Given the description of an element on the screen output the (x, y) to click on. 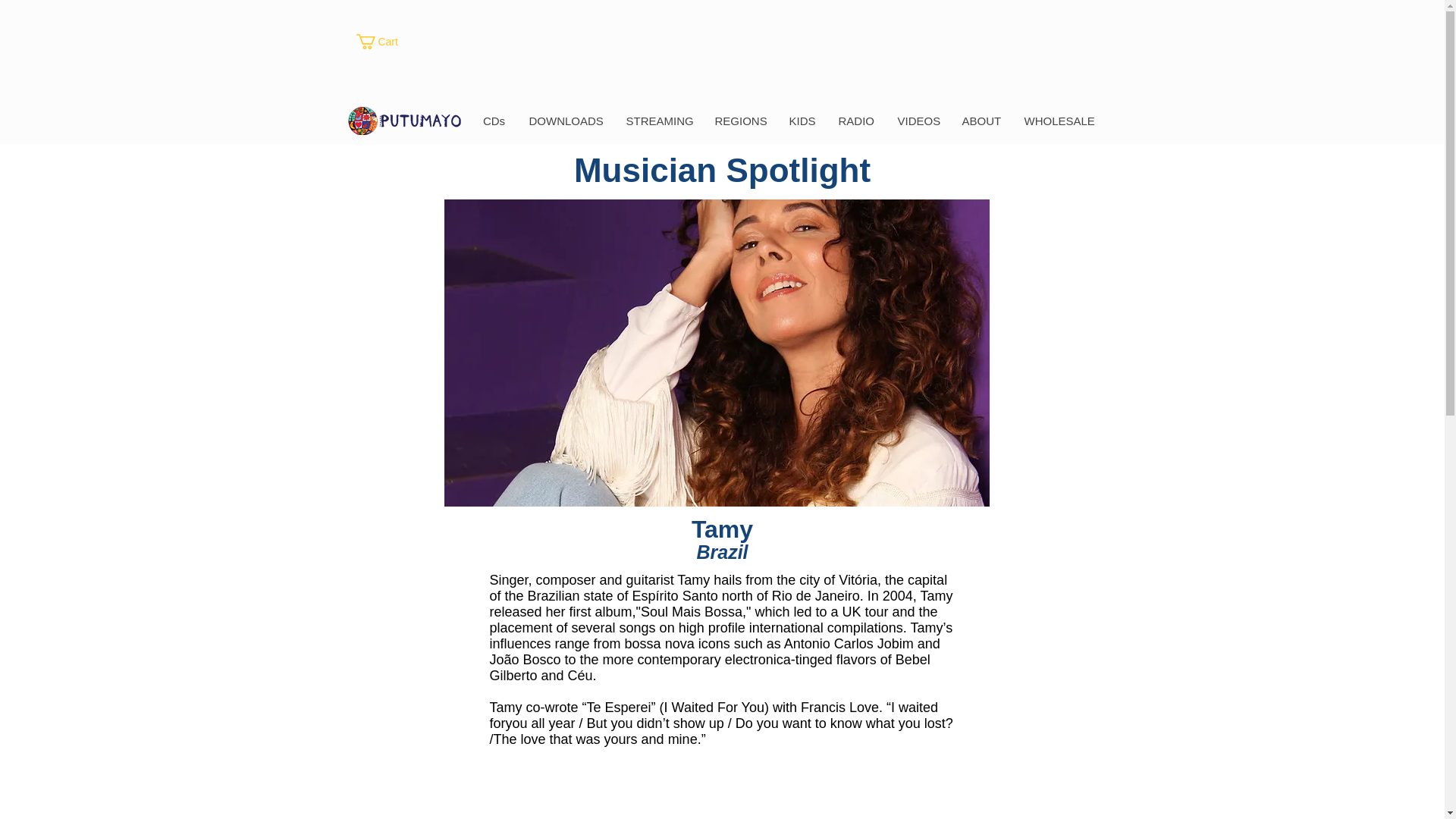
REGIONS (738, 121)
RADIO (856, 121)
Cart (384, 41)
STREAMING (658, 121)
ABOUT (980, 121)
VIDEOS (917, 121)
Cart (384, 41)
CDs (493, 121)
WHOLESALE (1056, 121)
DOWNLOADS (565, 121)
KIDS (800, 121)
